Given the description of an element on the screen output the (x, y) to click on. 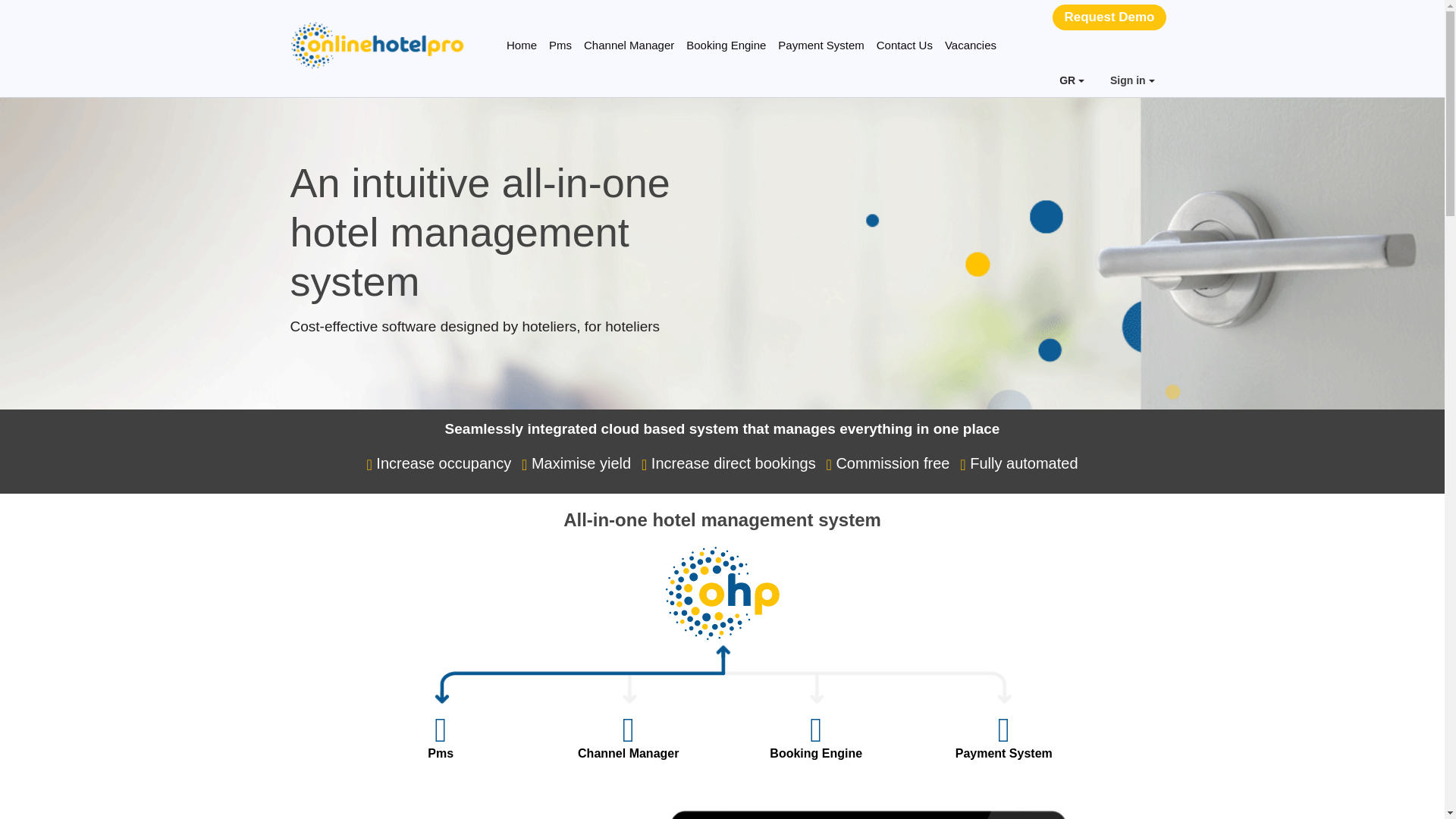
Vacancies (971, 46)
Pms (440, 753)
Channel Manager (628, 753)
Request Demo (1109, 17)
Home (521, 46)
Booking Engine (816, 753)
Payment System (1003, 753)
GR (1072, 81)
Payment System (820, 46)
Booking Engine (725, 46)
Contact Us (904, 46)
Sign in (1132, 81)
Channel Manager (628, 46)
